Given the description of an element on the screen output the (x, y) to click on. 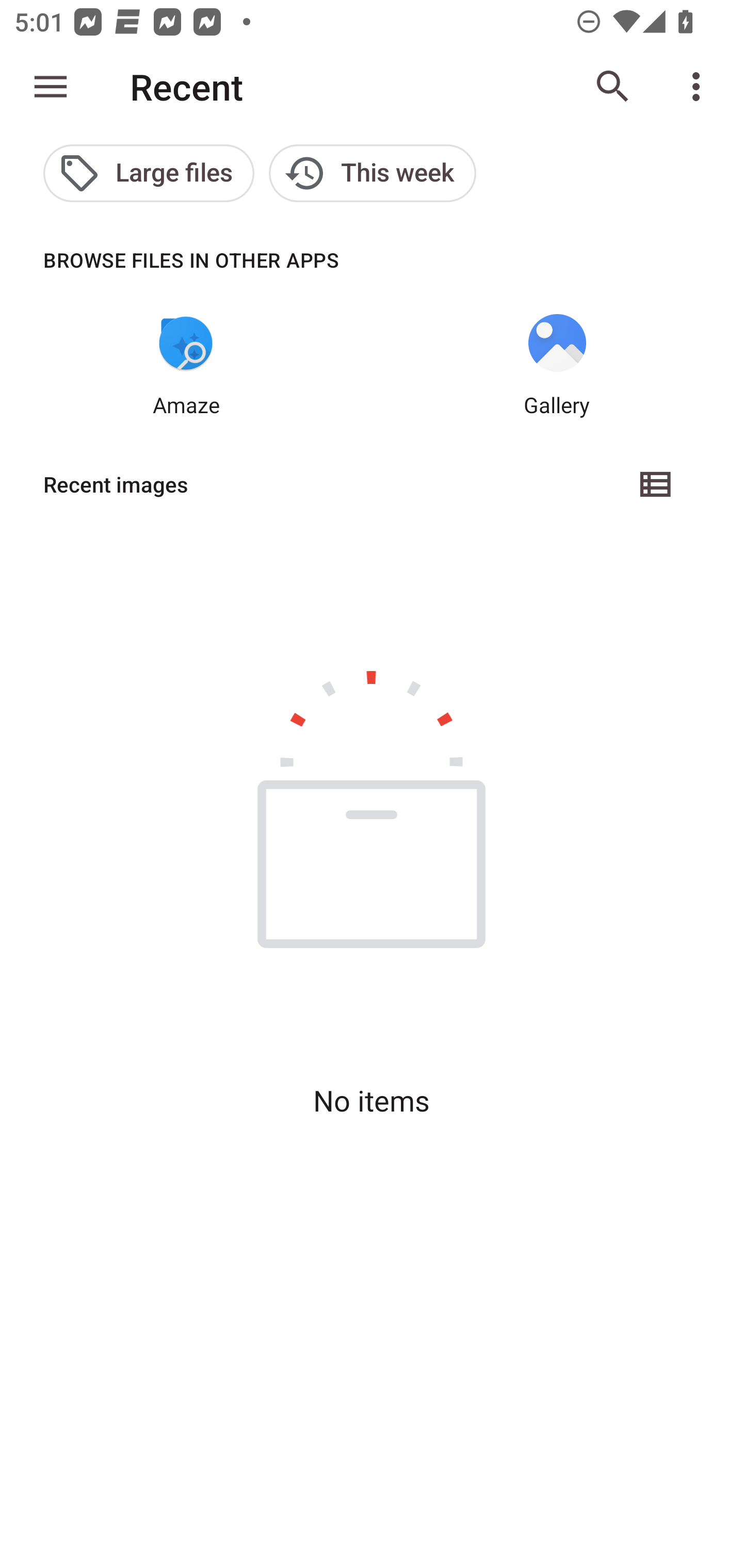
Show roots (50, 86)
Search (612, 86)
More options (699, 86)
Large files (148, 173)
This week (372, 173)
Amaze (185, 365)
Gallery (557, 365)
List view (655, 484)
